Given the description of an element on the screen output the (x, y) to click on. 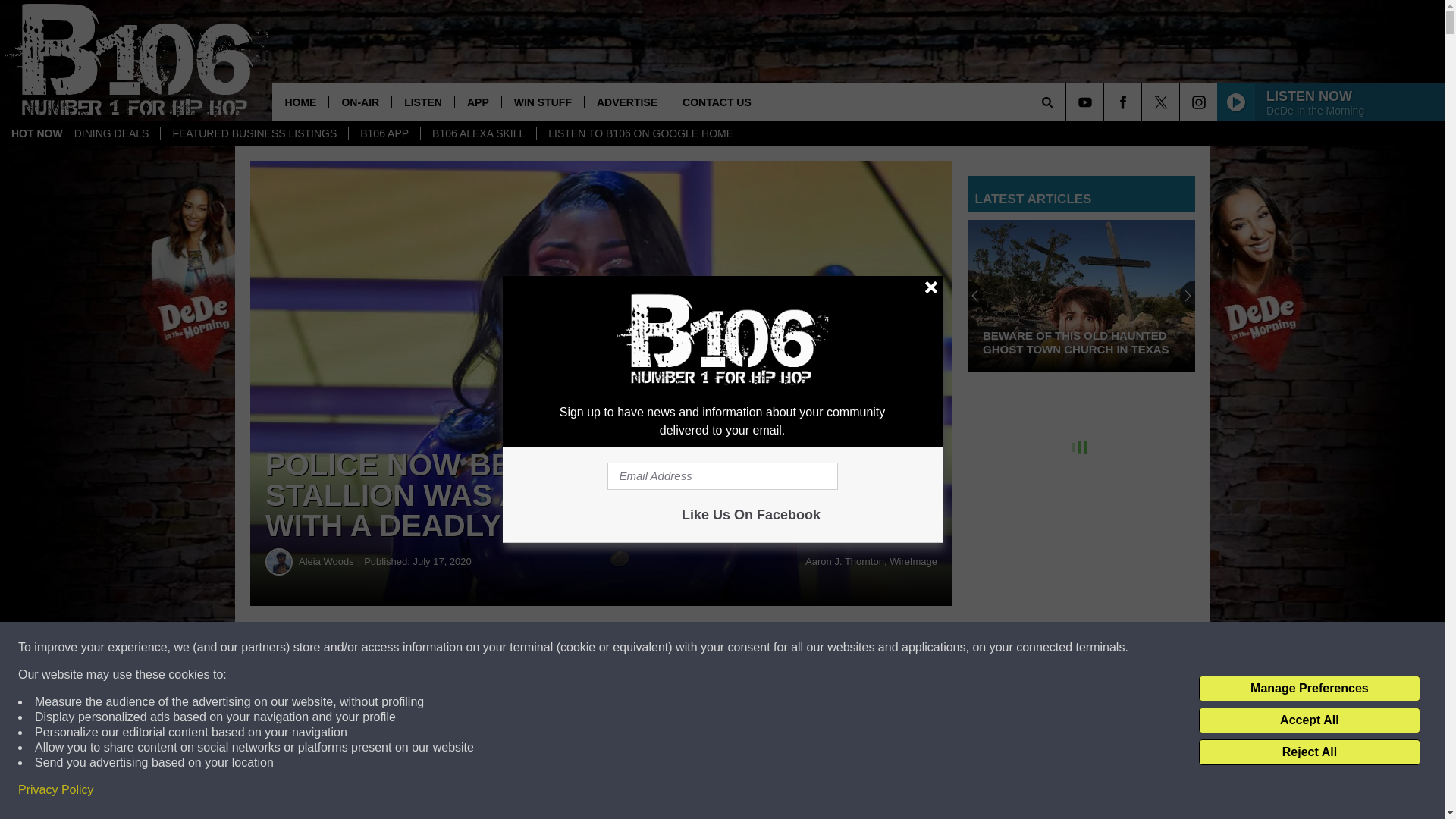
B106 APP (383, 133)
B106 ALEXA SKILL (477, 133)
ON-AIR (360, 102)
HOME (300, 102)
ADVERTISE (626, 102)
Accept All (1309, 720)
Privacy Policy (55, 789)
Manage Preferences (1309, 688)
CONTACT US (715, 102)
Share on Twitter (741, 647)
LISTEN (422, 102)
SEARCH (1068, 102)
FEATURED BUSINESS LISTINGS (253, 133)
APP (477, 102)
LISTEN TO B106 ON GOOGLE HOME (639, 133)
